Given the description of an element on the screen output the (x, y) to click on. 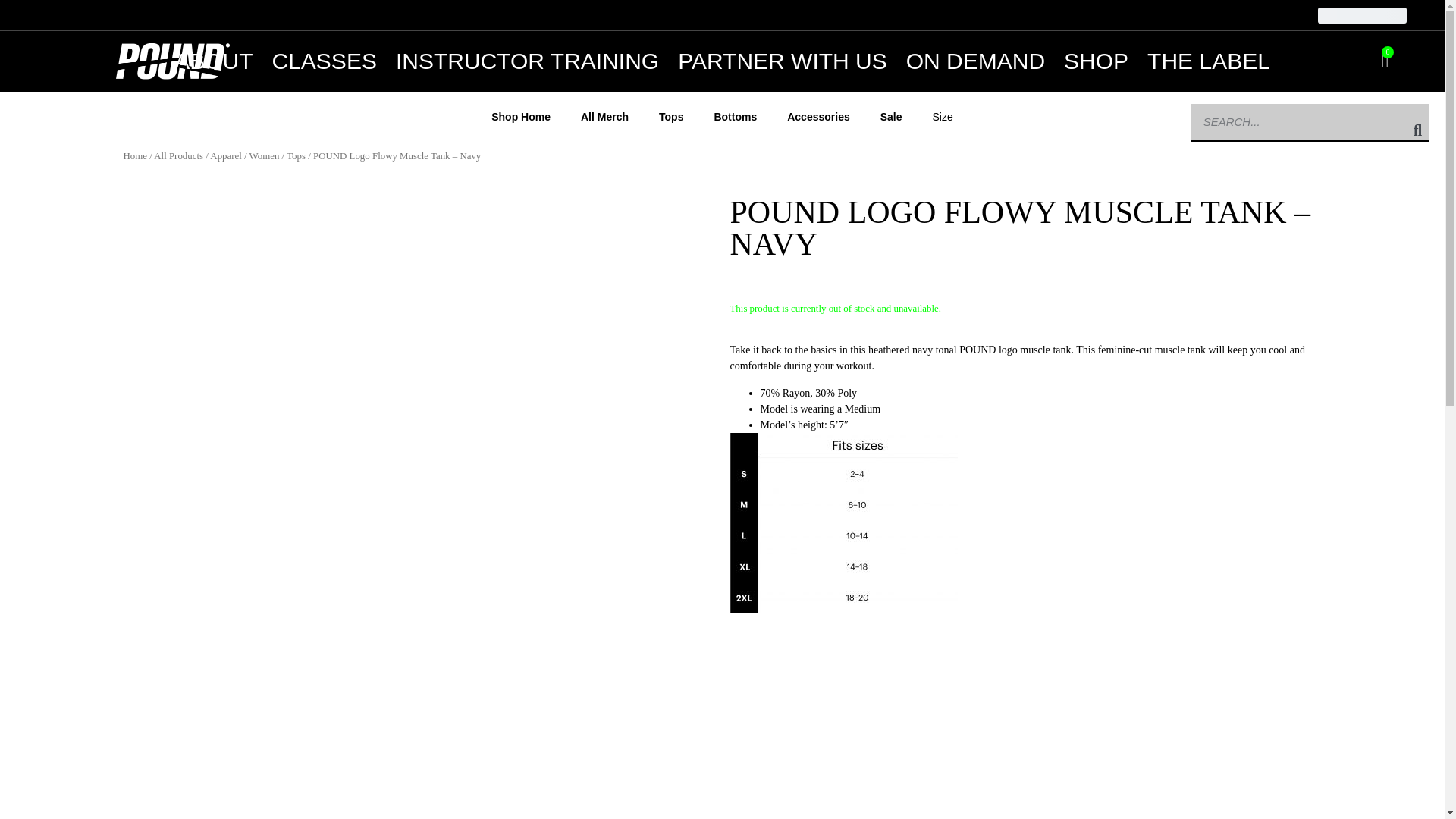
PARTNER WITH US (782, 61)
THE LABEL (1208, 61)
CLASSES (322, 61)
ABOUT (212, 61)
SHOP (1096, 61)
ON DEMAND (975, 61)
INSTRUCTOR TRAINING (527, 61)
